Given the description of an element on the screen output the (x, y) to click on. 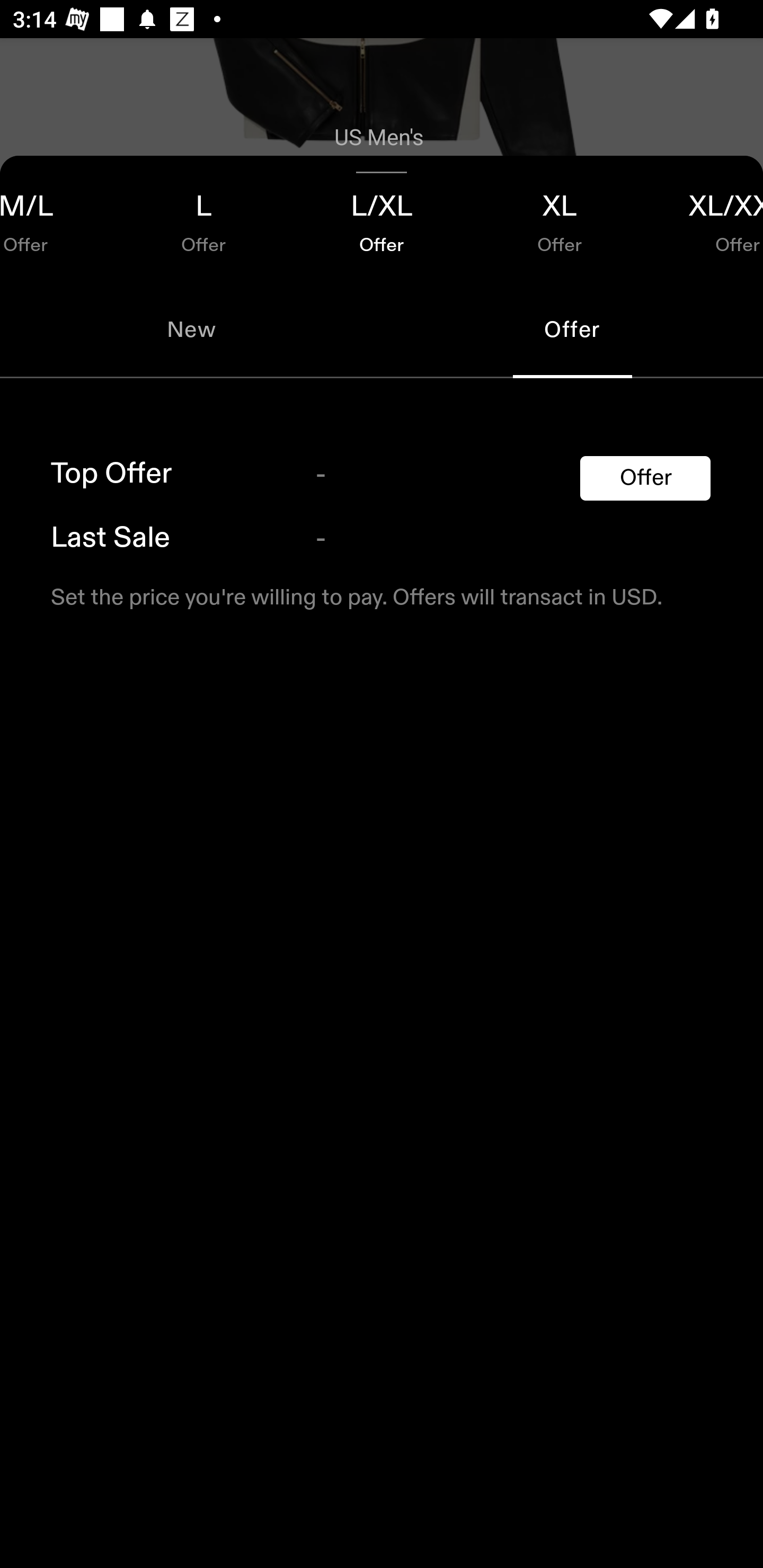
L Offer (203, 218)
L/XL Offer (381, 218)
XL Offer (559, 218)
XL/XXL Offer (705, 218)
New (190, 329)
Offer (644, 477)
